Given the description of an element on the screen output the (x, y) to click on. 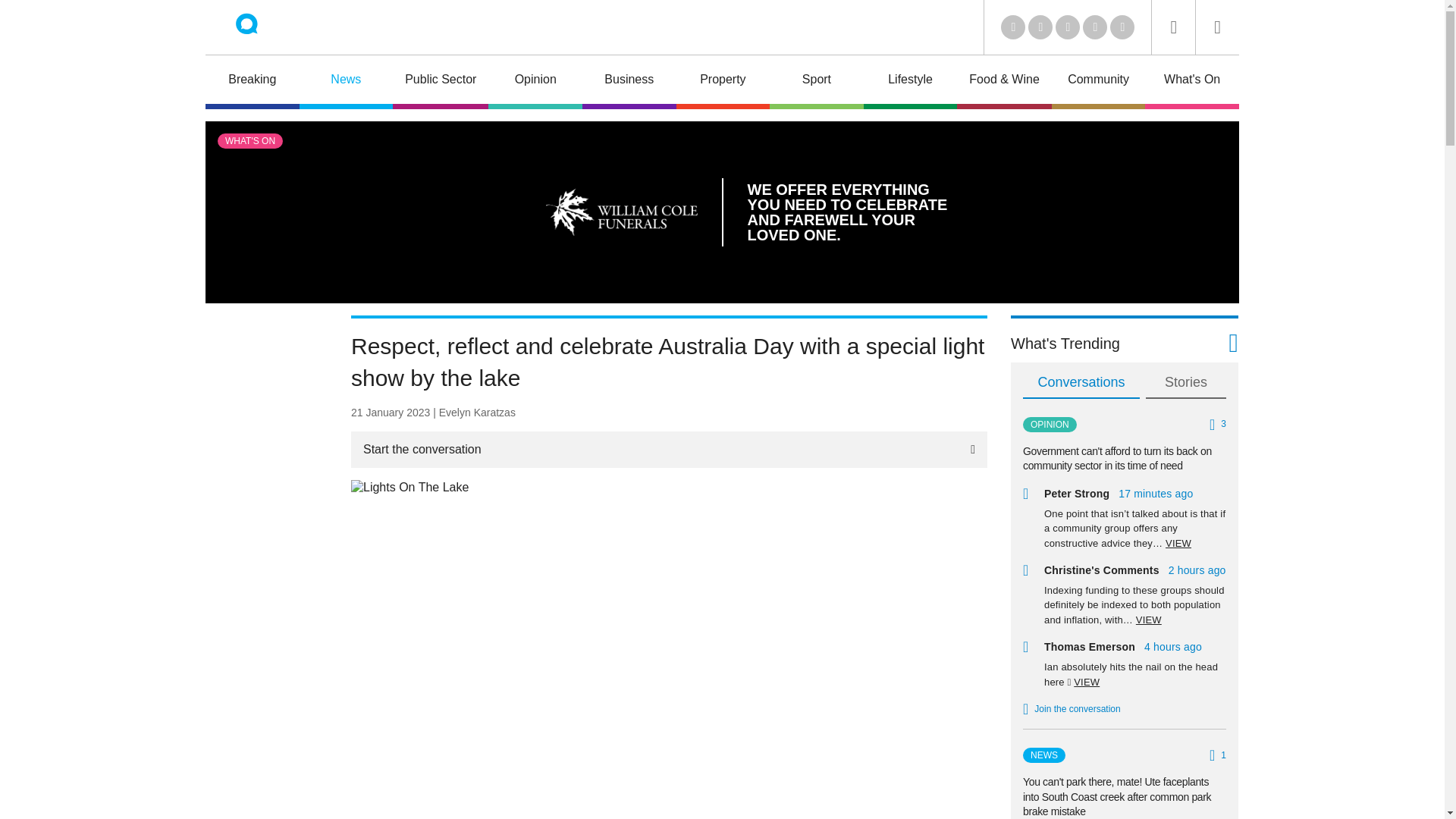
News (346, 81)
Twitter (1039, 27)
Instagram (1121, 27)
LinkedIn (1013, 27)
Breaking (252, 81)
Youtube (1067, 27)
Riotact Home (267, 26)
Facebook (1094, 27)
